Given the description of an element on the screen output the (x, y) to click on. 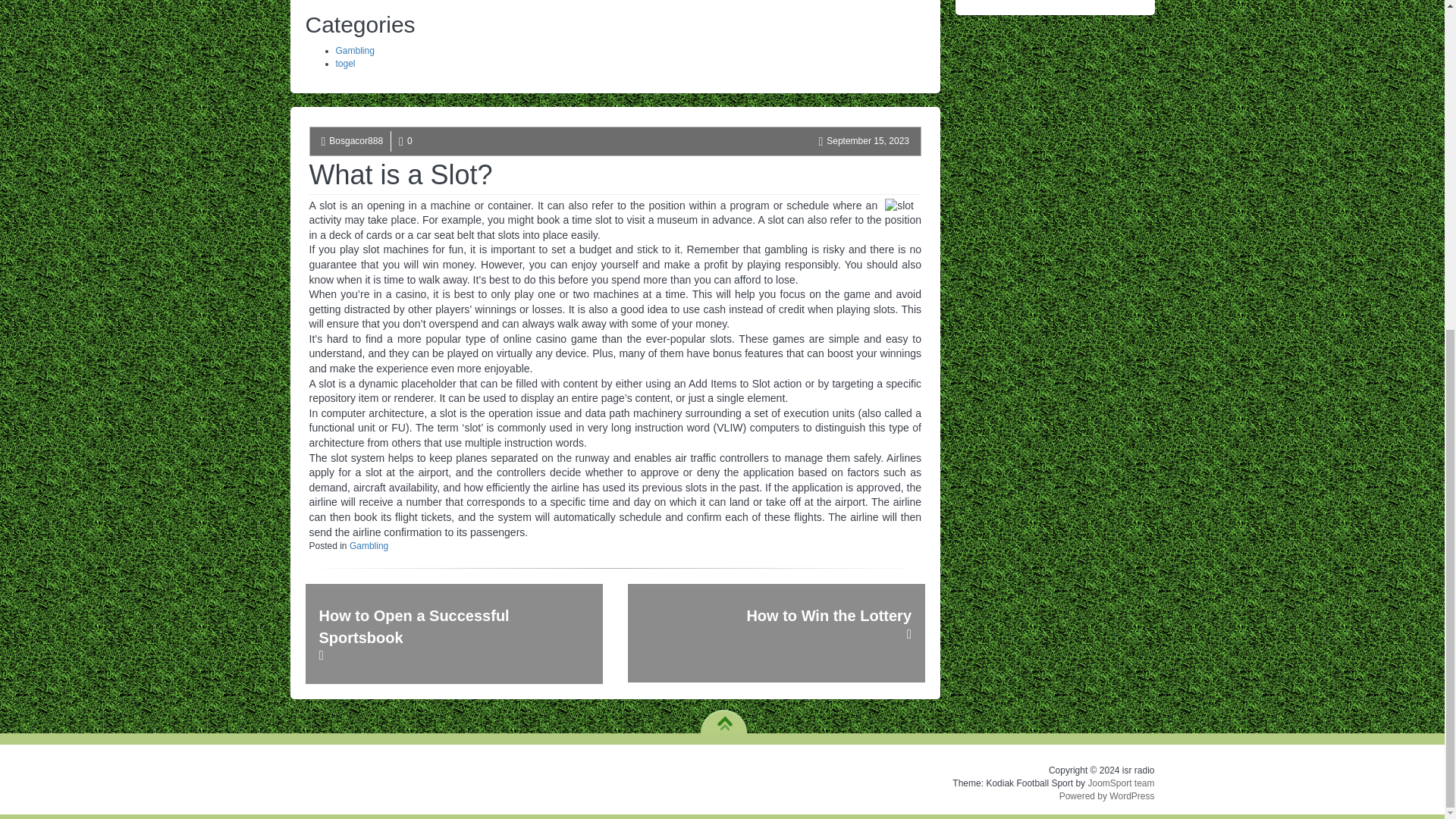
togel (344, 63)
Gambling (368, 545)
 The Best WordPress Sport Plugin for your league and club  (1120, 783)
Bosgacor888 (355, 140)
How to Win the Lottery (775, 632)
How to Open a Successful Sportsbook (453, 633)
Gambling (354, 50)
